Given the description of an element on the screen output the (x, y) to click on. 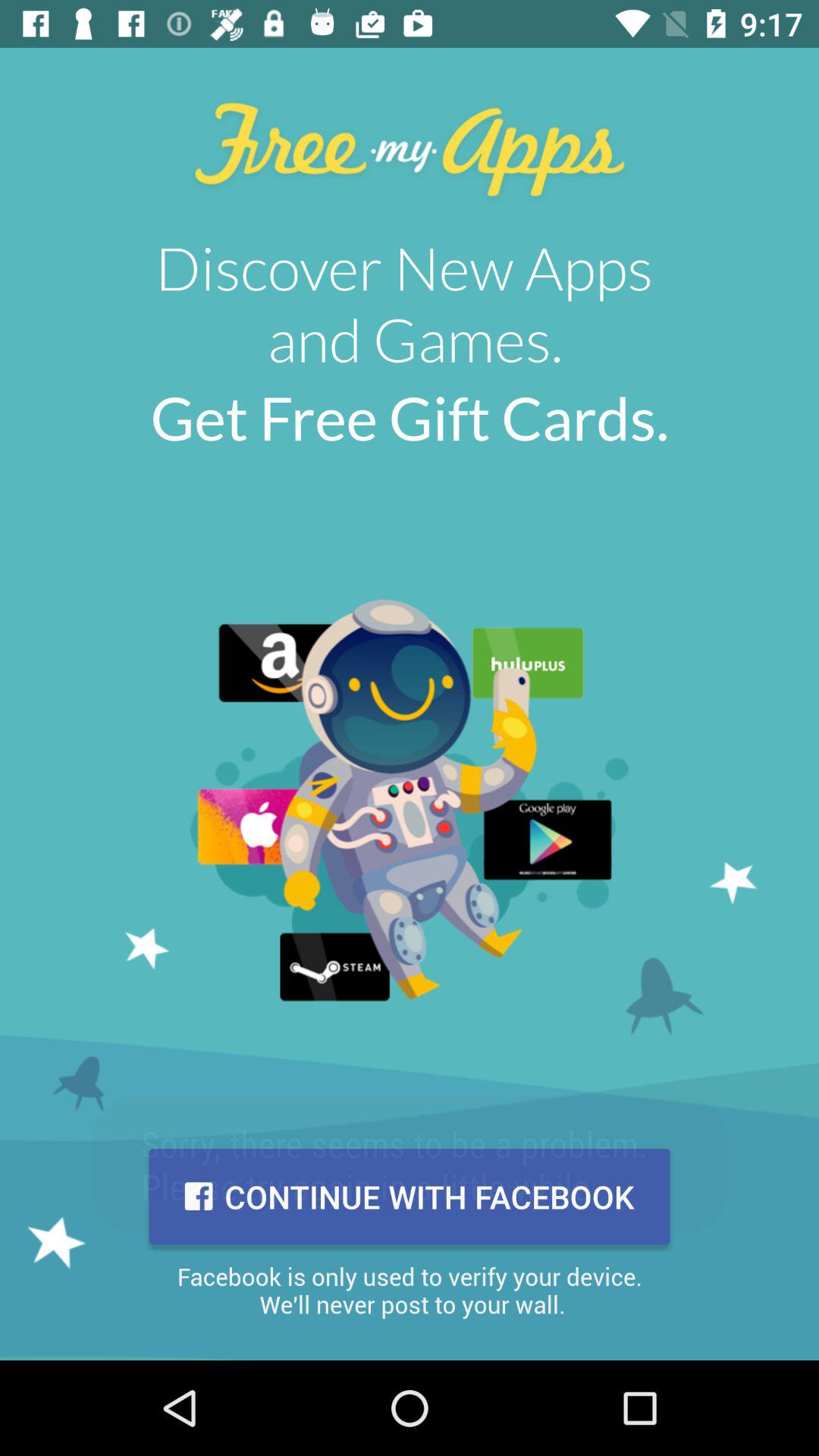
launch continue with facebook icon (409, 1196)
